Given the description of an element on the screen output the (x, y) to click on. 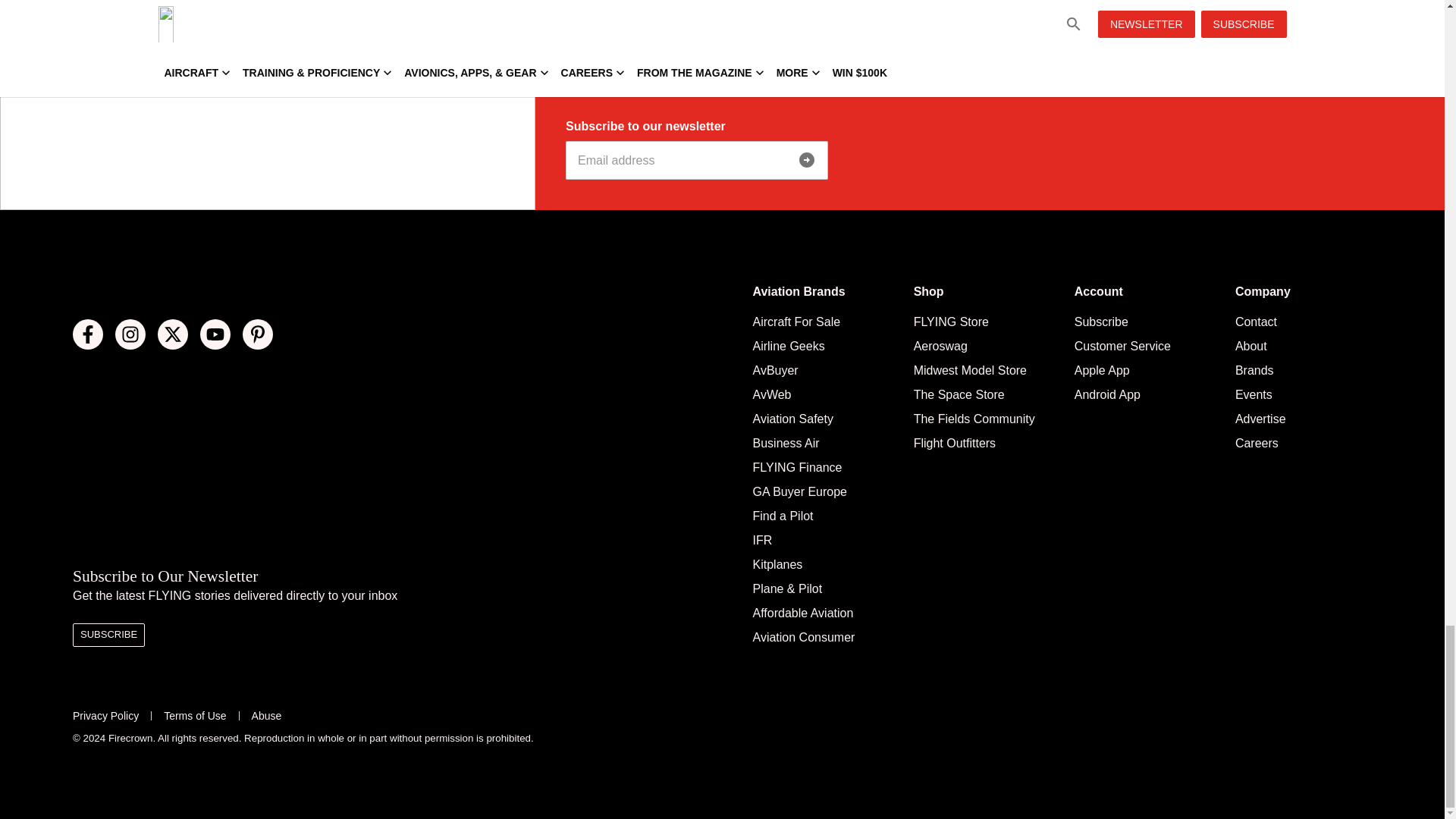
Youtube (215, 334)
Submit (807, 159)
Instagram (130, 334)
Facebook (87, 334)
Twitter (172, 334)
Pinterest (258, 334)
